Given the description of an element on the screen output the (x, y) to click on. 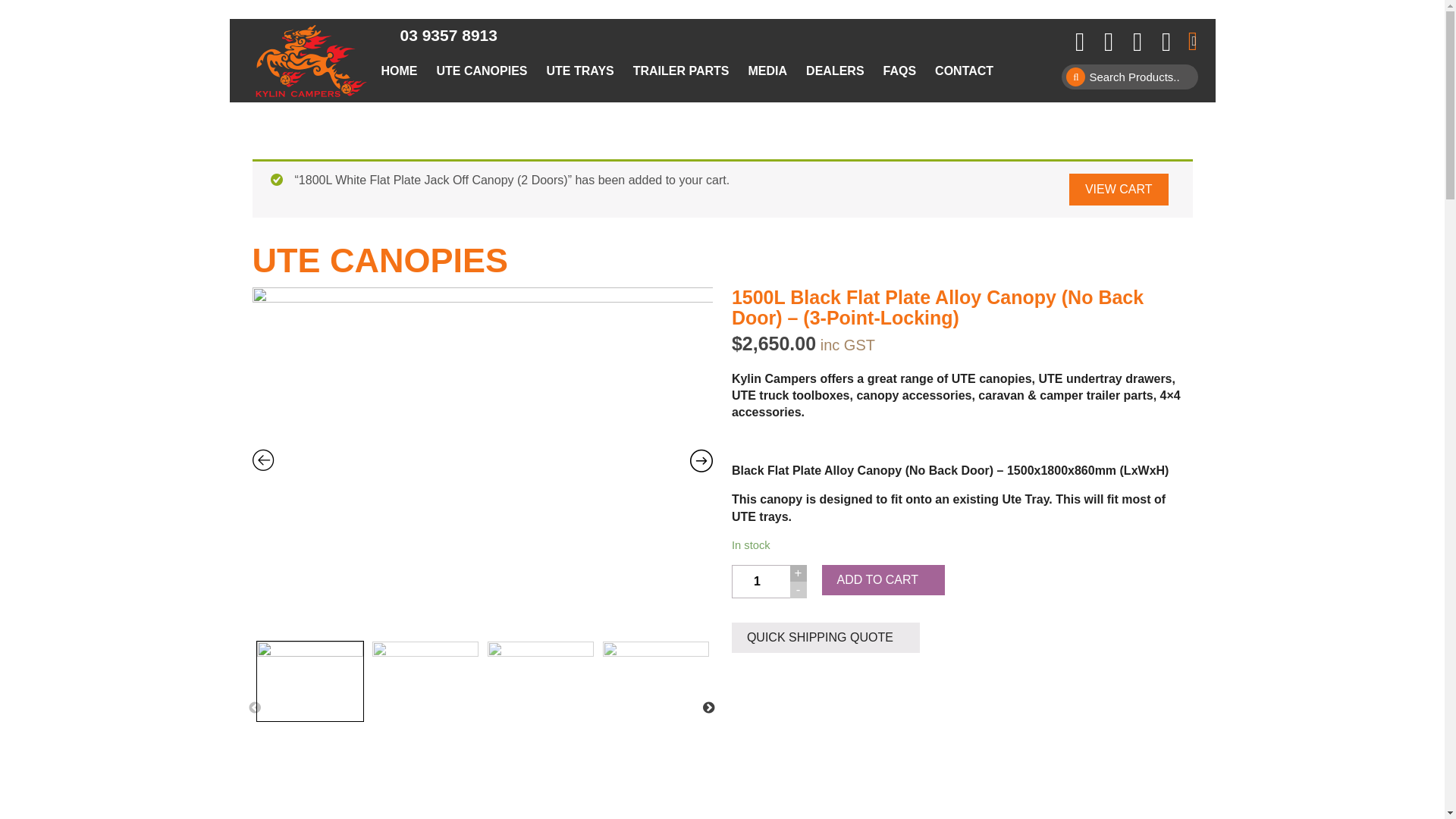
DEALERS Element type: text (834, 70)
ADD TO CART Element type: text (883, 579)
CONTACT Element type: text (964, 70)
Previous Element type: text (254, 707)
Qty Element type: hover (762, 581)
MEDIA Element type: text (767, 70)
VIEW CART Element type: text (1118, 189)
UTE TRAYS Element type: text (580, 70)
QUICK SHIPPING QUOTE Element type: text (825, 637)
HOME Element type: text (398, 70)
FAQS Element type: text (899, 70)
TRAILER PARTS Element type: text (681, 70)
UTE CANOPIES Element type: text (481, 70)
Next Element type: text (708, 707)
